Given the description of an element on the screen output the (x, y) to click on. 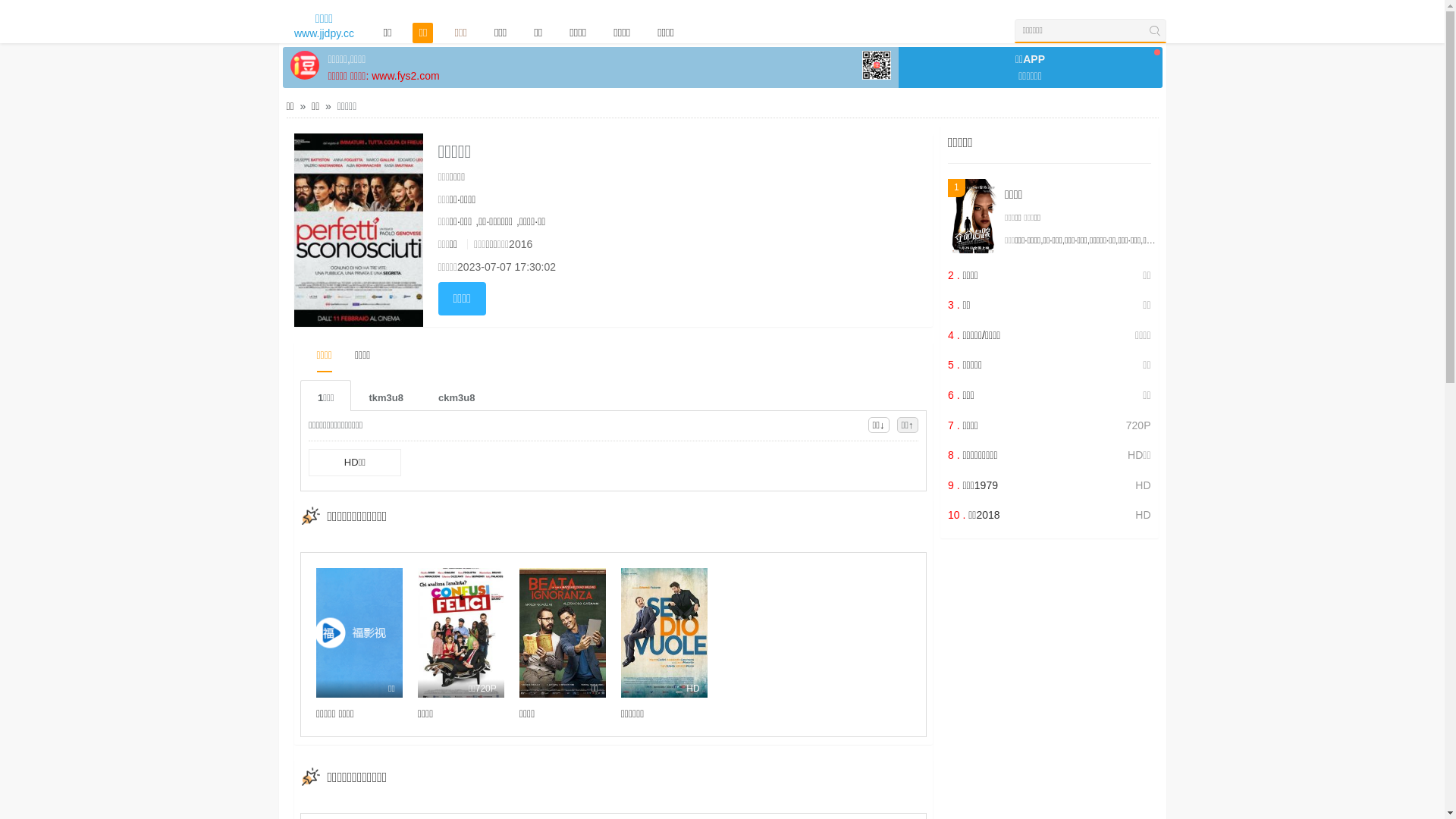
ckm3u8 Element type: text (456, 395)
HD Element type: text (664, 632)
tkm3u8 Element type: text (385, 395)
1 Element type: text (972, 215)
